Given the description of an element on the screen output the (x, y) to click on. 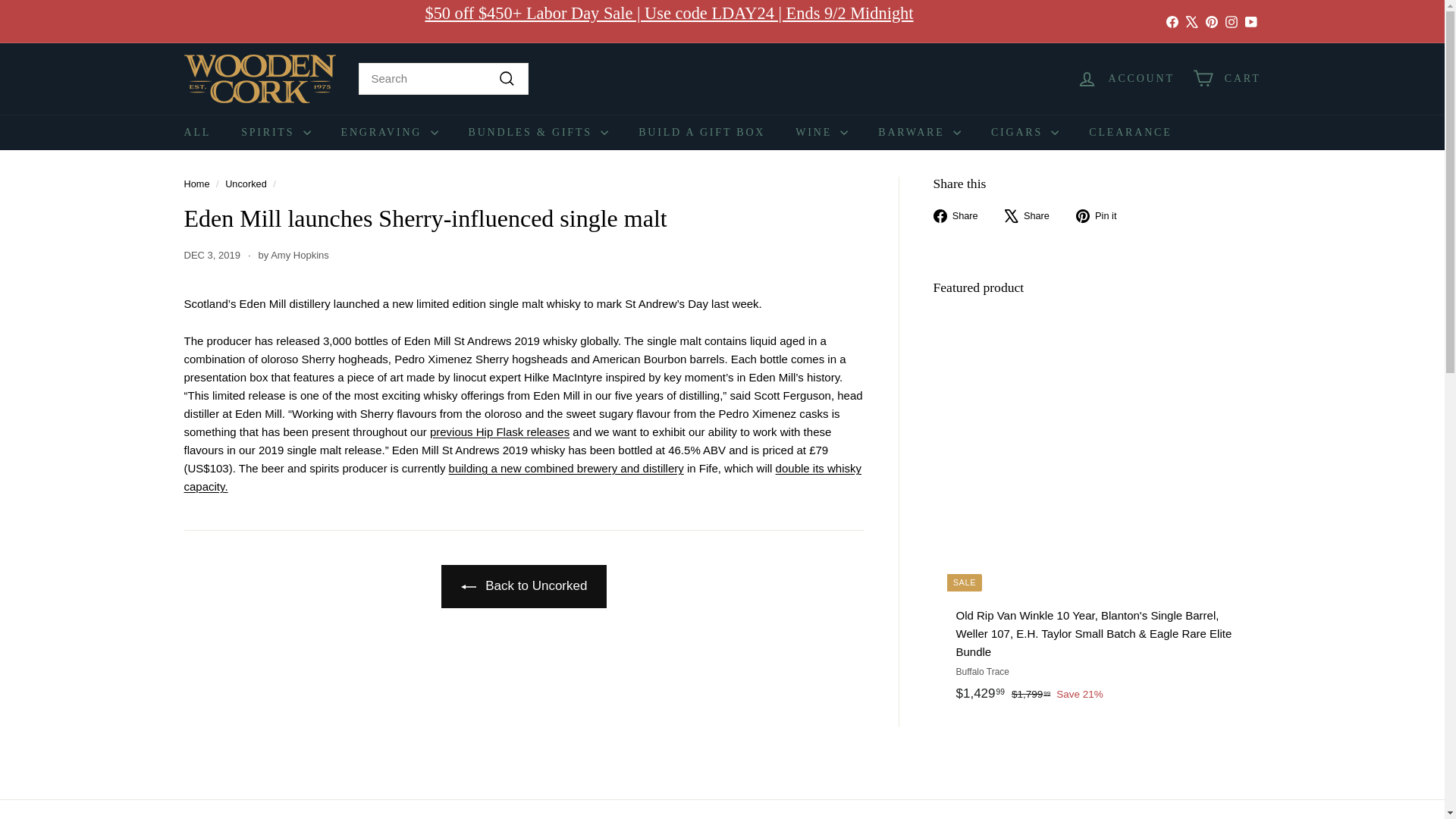
Search (507, 78)
ACCOUNT (1125, 78)
CART (1226, 78)
Back to the frontpage (196, 183)
Tweet on Twitter (1032, 215)
Pin on Pinterest (1101, 215)
ALL (196, 131)
Share on Facebook (960, 215)
